Given the description of an element on the screen output the (x, y) to click on. 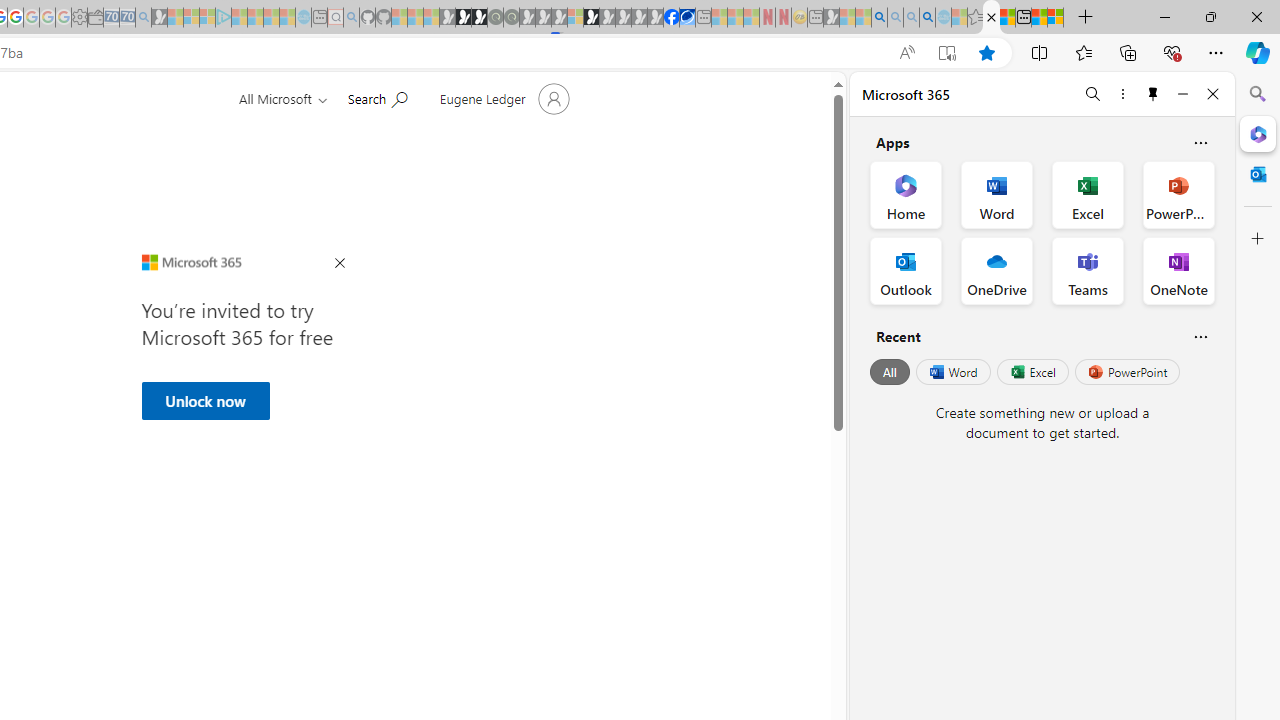
Word Office App (996, 194)
Favorites - Sleeping (975, 17)
Aberdeen, Hong Kong SAR weather forecast | Microsoft Weather (1007, 17)
Word (952, 372)
Settings - Sleeping (79, 17)
